Given the description of an element on the screen output the (x, y) to click on. 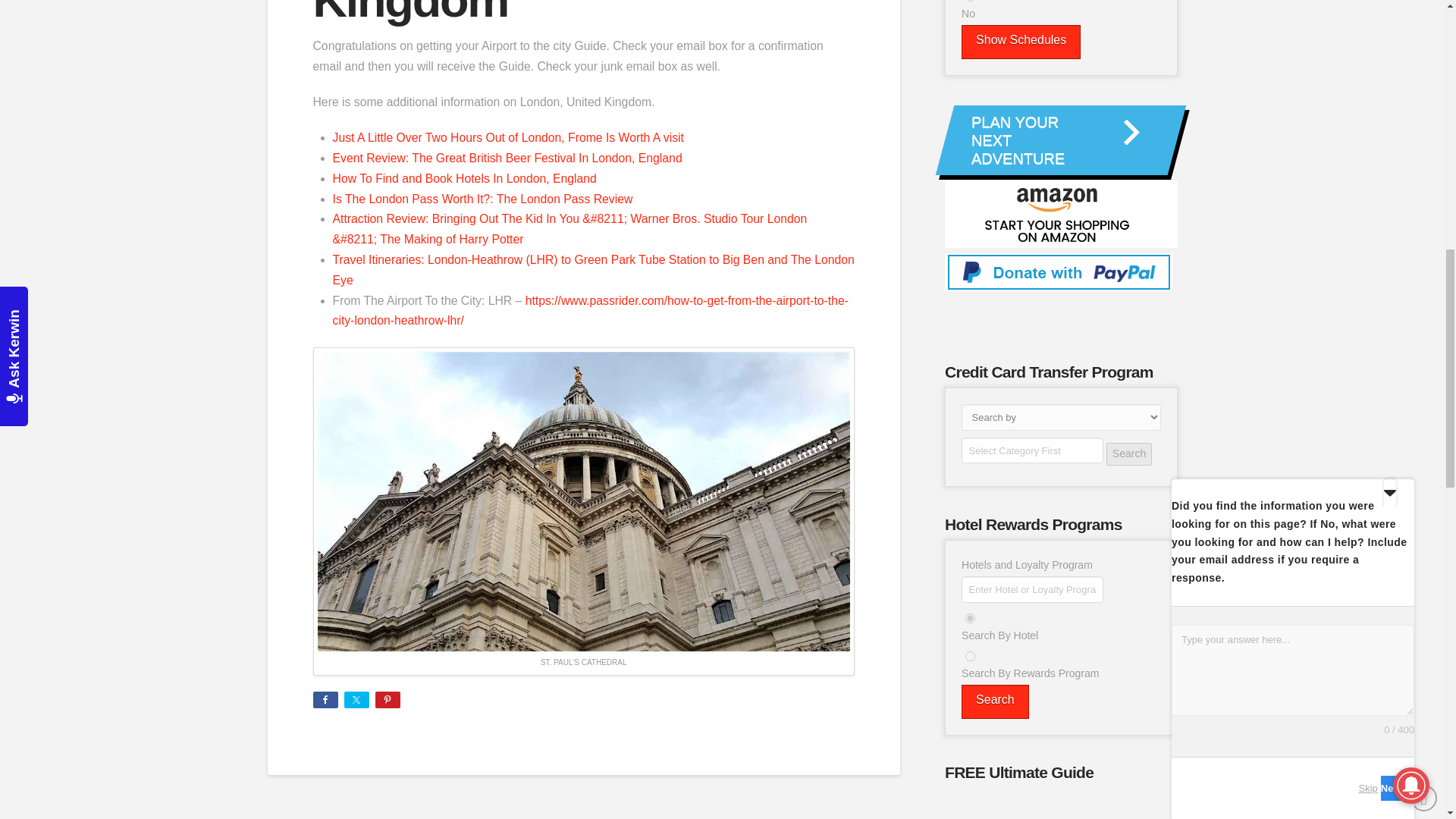
Show Schedules (1020, 41)
Share on Facebook (325, 699)
Share on Pinterest (386, 699)
Share on Twitter (356, 699)
loyalty (970, 655)
hotel (970, 618)
